Given the description of an element on the screen output the (x, y) to click on. 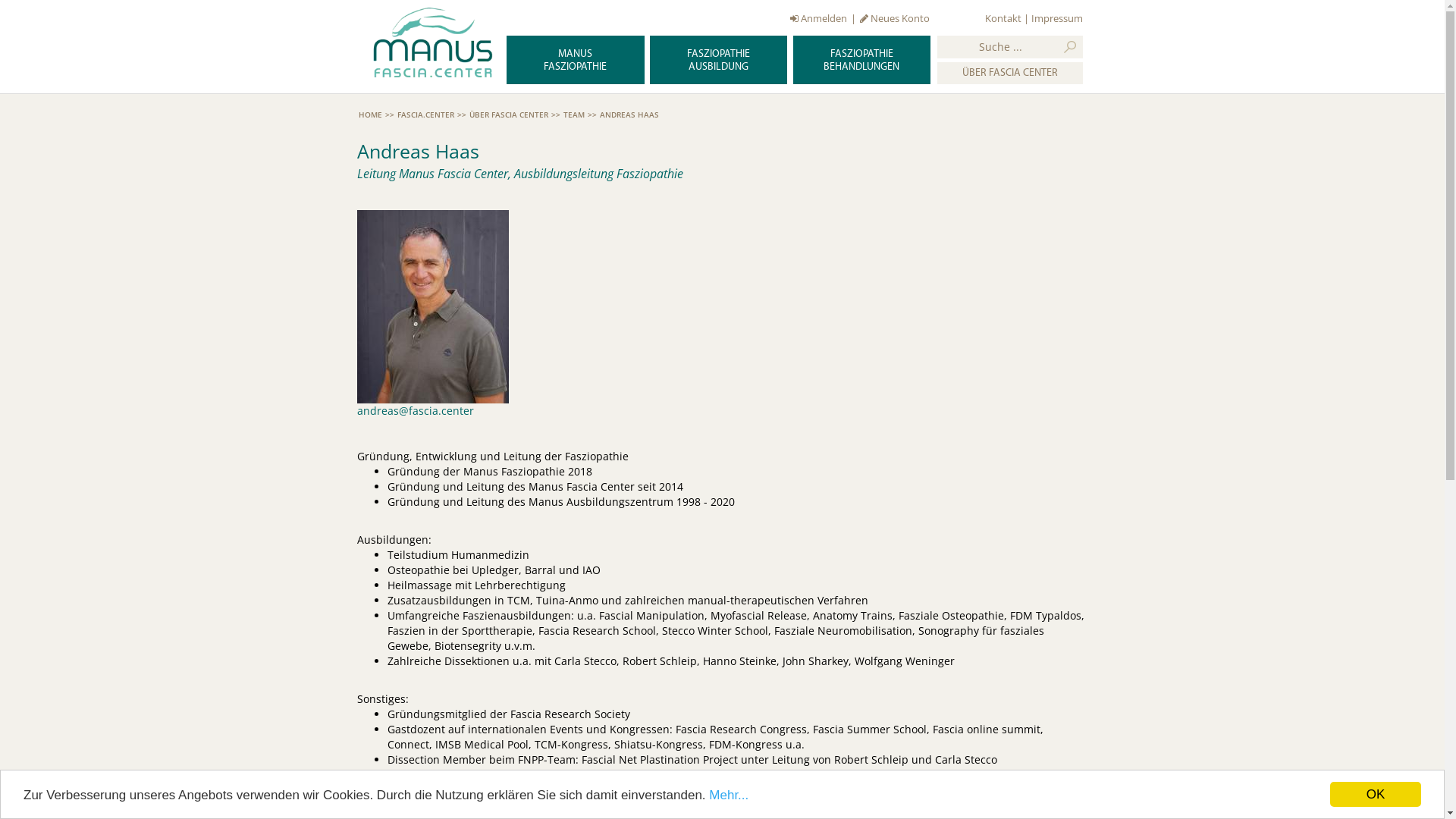
Kontakt Element type: text (1003, 18)
Impressum Element type: text (1056, 18)
FASZIOPATHIE BEHANDLUNGEN Element type: text (861, 59)
OK Element type: text (1375, 793)
FASZIOPATHIE AUSBILDUNG Element type: text (718, 59)
Anmelden Element type: text (818, 18)
FASCIA.CENTER Element type: text (425, 114)
TEAM Element type: text (572, 114)
andreas@fascia.center Element type: text (415, 410)
MANUS FASZIOPATHIE Element type: text (574, 59)
Mehr... Element type: text (728, 794)
HOME Element type: text (369, 114)
Neues Konto Element type: text (894, 18)
Suchen Element type: hover (1069, 46)
